Given the description of an element on the screen output the (x, y) to click on. 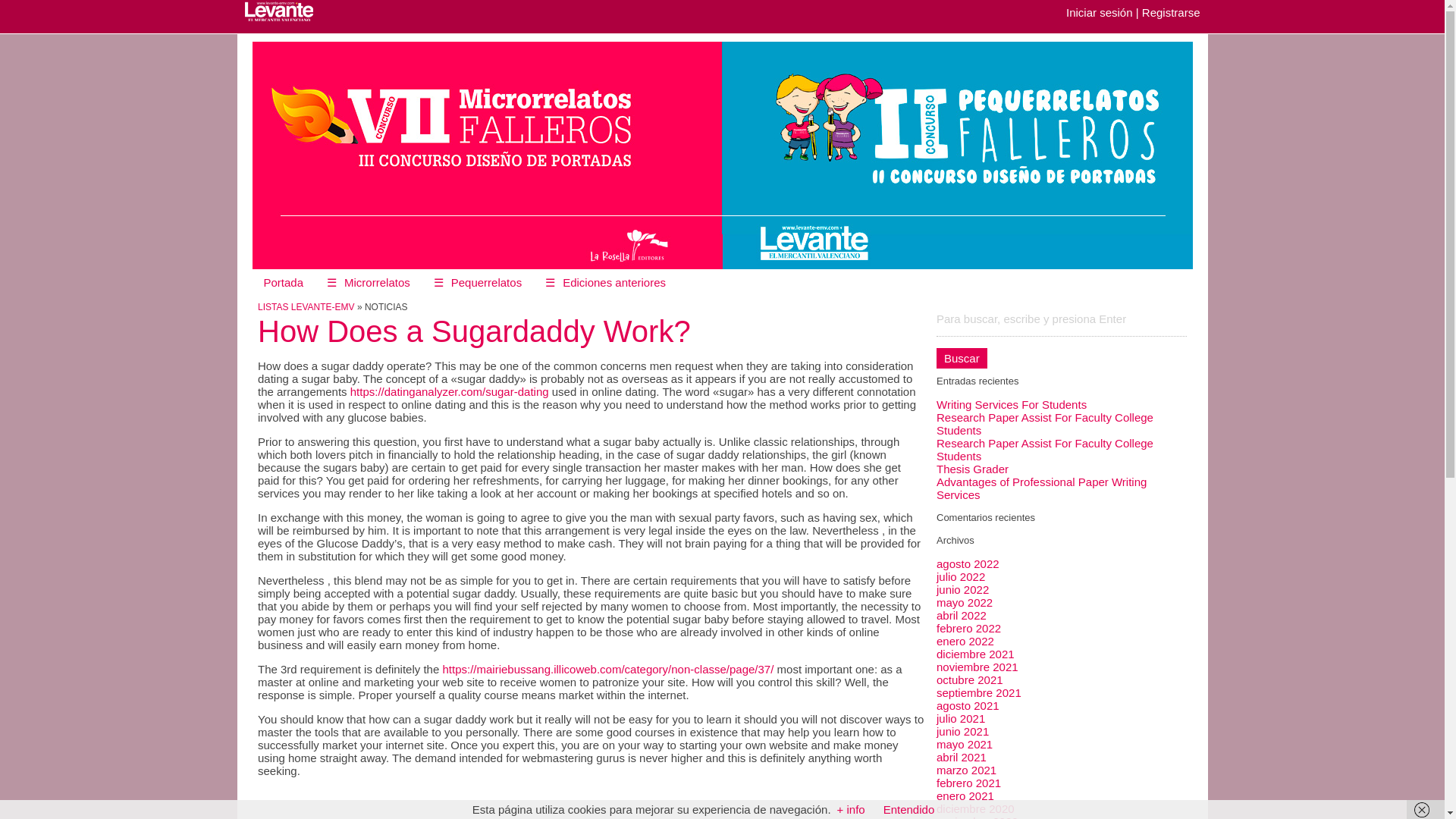
julio 2022 (960, 576)
Portada (282, 282)
Research Paper Assist For Faculty College Students (1044, 449)
junio 2022 (962, 589)
Research Paper Assist For Faculty College Students (1044, 423)
mayo 2022 (964, 602)
Advantages of Professional Paper Writing Services (1041, 488)
noviembre 2021 (976, 666)
Ediciones anteriores (605, 282)
Buscar (961, 358)
